Given the description of an element on the screen output the (x, y) to click on. 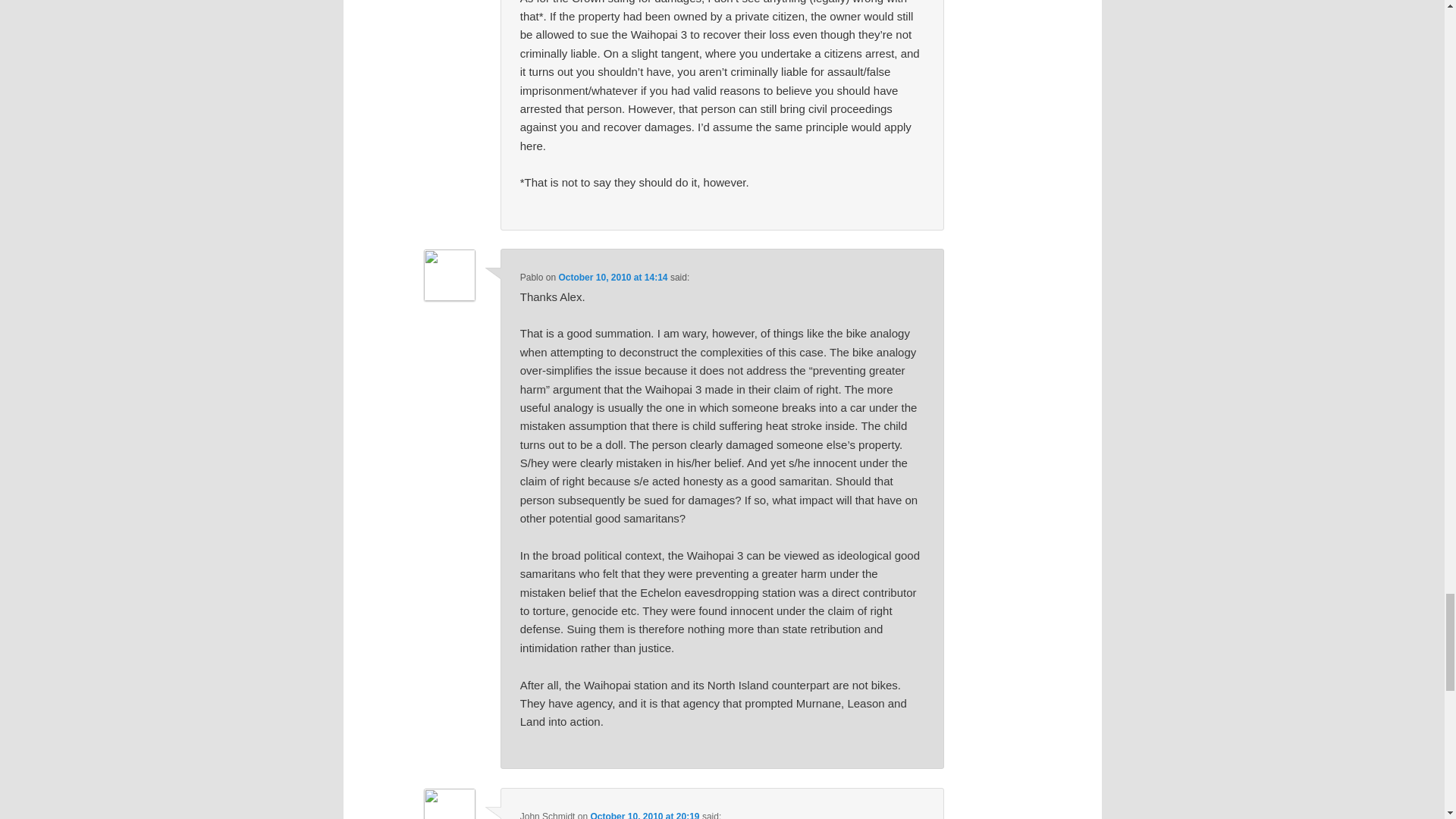
October 10, 2010 at 20:19 (643, 815)
October 10, 2010 at 14:14 (611, 276)
